Given the description of an element on the screen output the (x, y) to click on. 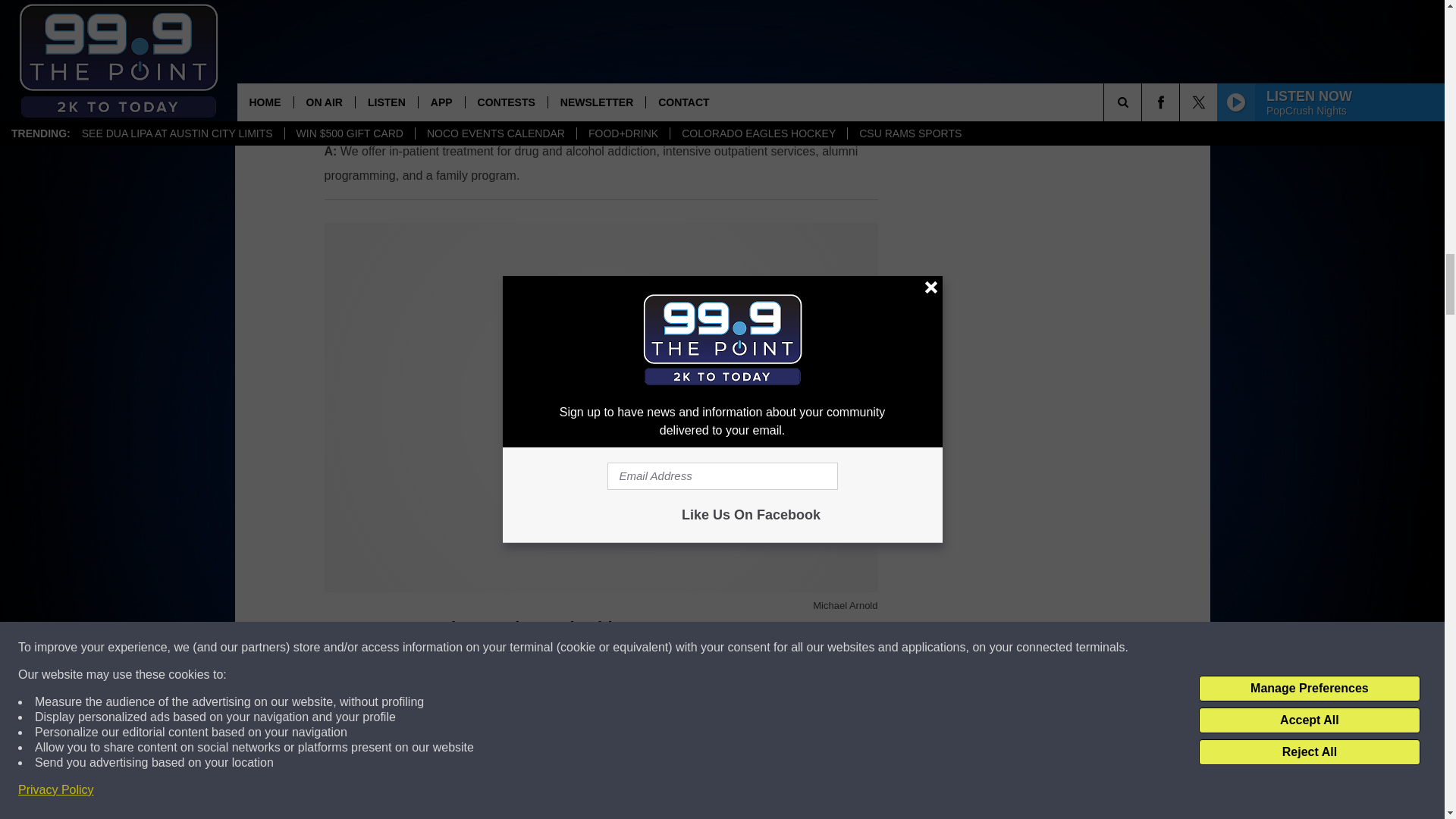
Email Address (600, 749)
